Given the description of an element on the screen output the (x, y) to click on. 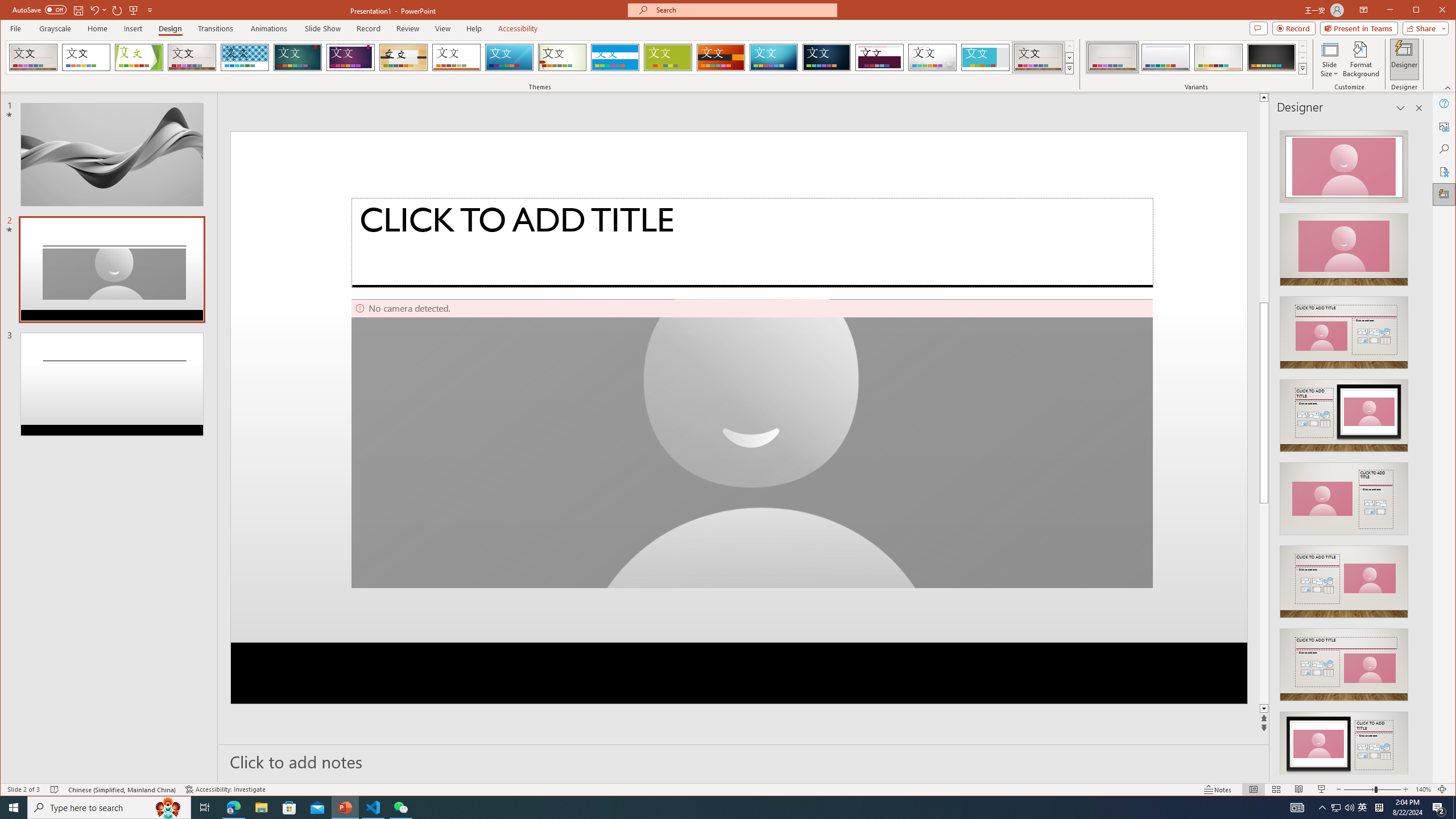
Microsoft search (742, 10)
Action Center, 2 new notifications (1439, 807)
Integral (244, 57)
File Explorer (261, 807)
Gallery (1037, 57)
WeChat - 1 running window (400, 807)
Page down (1263, 603)
Grayscale (55, 28)
Tray Input Indicator - Chinese (Simplified, China) (1378, 807)
